Given the description of an element on the screen output the (x, y) to click on. 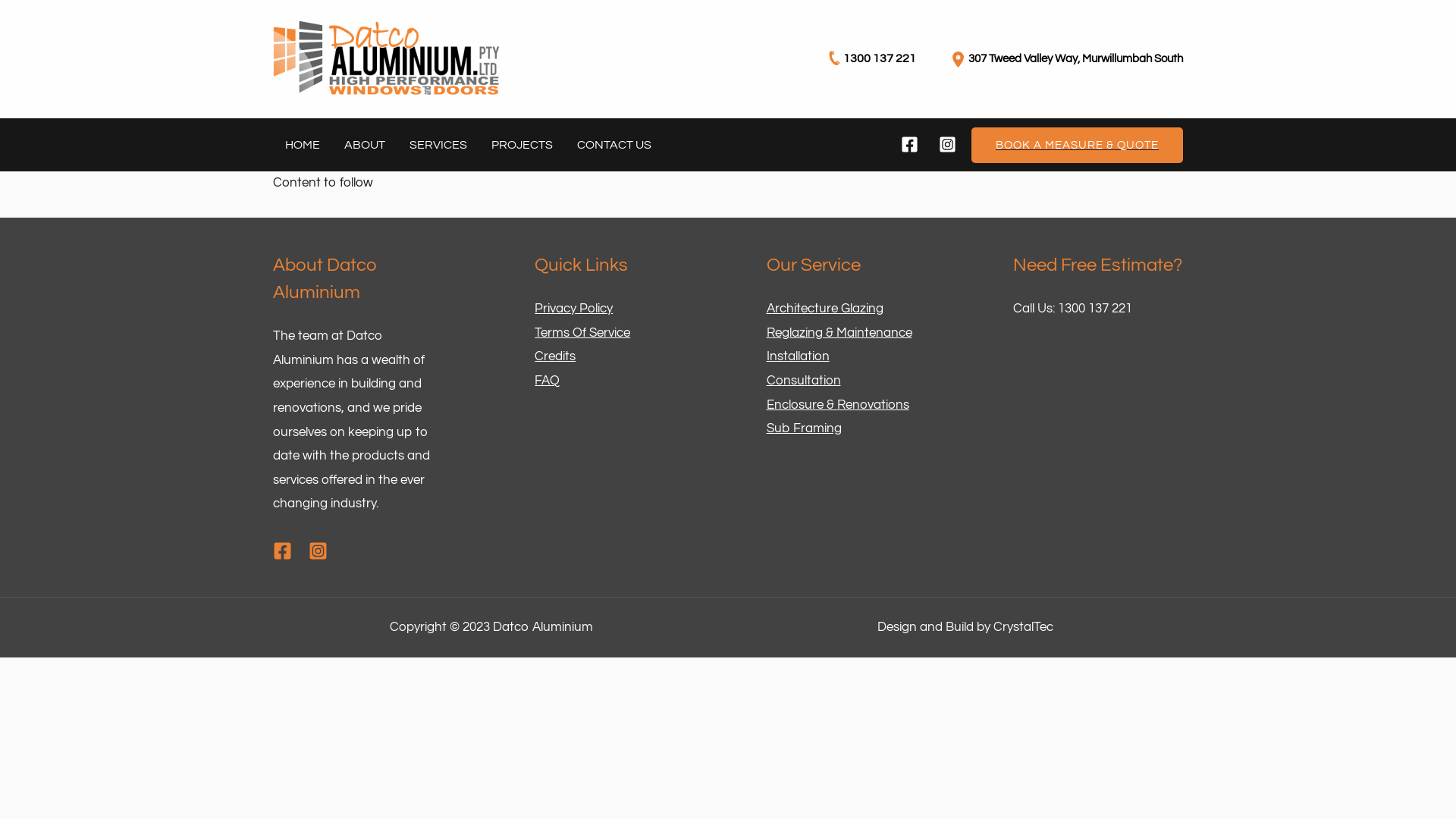
Architecture Glazing Element type: text (823, 308)
FAQ Element type: text (546, 380)
SERVICES Element type: text (438, 144)
ABOUT Element type: text (364, 144)
PROJECTS Element type: text (521, 144)
Installation Element type: text (796, 356)
Enclosure & Renovations Element type: text (836, 404)
HOME Element type: text (302, 144)
Privacy Policy Element type: text (573, 308)
Terms Of Service Element type: text (582, 332)
Sub Framing Element type: text (802, 428)
Consultation Element type: text (802, 380)
CONTACT US Element type: text (613, 144)
BOOK A MEASURE & QUOTE Element type: text (1077, 145)
Credits Element type: text (554, 356)
Reglazing & Maintenance Element type: text (838, 332)
